Given the description of an element on the screen output the (x, y) to click on. 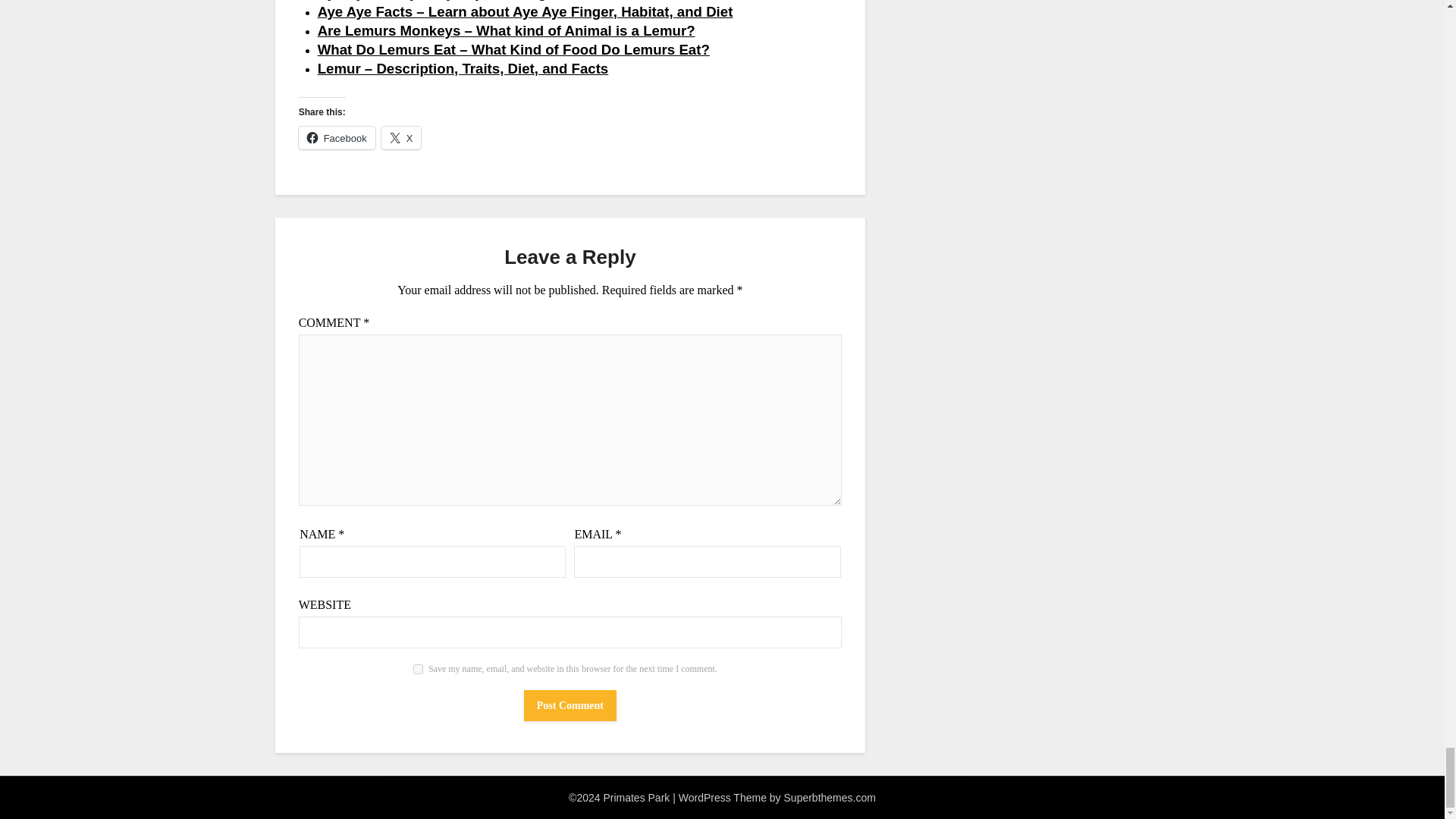
Click to share on Facebook (336, 137)
Facebook (336, 137)
Click to share on X (401, 137)
Post Comment (569, 705)
Post Comment (569, 705)
yes (418, 669)
X (401, 137)
